Given the description of an element on the screen output the (x, y) to click on. 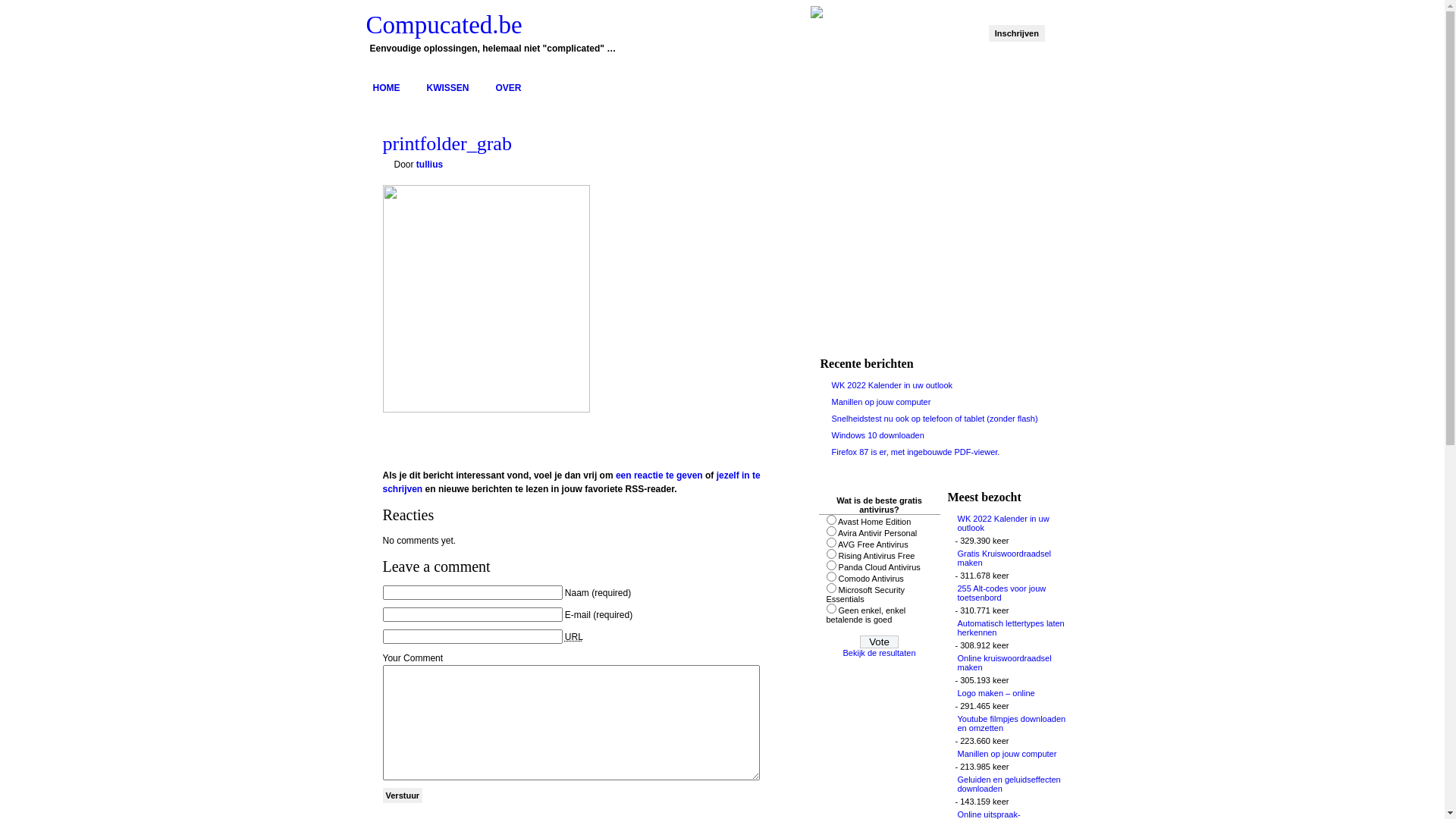
printfolder_grab Element type: text (446, 143)
WK 2022 Kalender in uw outlook Element type: text (1012, 523)
Manillen op jouw computer Element type: text (1012, 753)
Online kruiswoordraadsel maken Element type: text (1012, 662)
Bekijk de resultaten Element type: text (879, 652)
Inschrijven Element type: text (1016, 33)
een reactie te geven Element type: text (658, 475)
Compucated.be Element type: text (443, 24)
   Vote    Element type: text (878, 641)
Firefox 87 is er, met ingebouwde PDF-viewer. Element type: text (915, 451)
Gratis Kruiswoordraadsel maken Element type: text (1012, 558)
KWISSEN Element type: text (454, 87)
Verstuur Element type: text (402, 795)
Advertisement Element type: hover (929, 239)
Windows 10 downloaden Element type: text (877, 434)
jezelf in te schrijven Element type: text (570, 482)
OVER Element type: text (515, 87)
Geluiden en geluidseffecten downloaden Element type: text (1012, 784)
255 Alt-codes voor jouw toetsenbord Element type: text (1012, 592)
tullius Element type: text (429, 164)
Youtube filmpjes downloaden en omzetten Element type: text (1012, 723)
Automatisch lettertypes laten herkennen Element type: text (1012, 627)
WK 2022 Kalender in uw outlook Element type: text (891, 384)
Manillen op jouw computer Element type: text (880, 401)
Snelheidstest nu ook op telefoon of tablet (zonder flash) Element type: text (934, 418)
HOME Element type: text (394, 87)
